Given the description of an element on the screen output the (x, y) to click on. 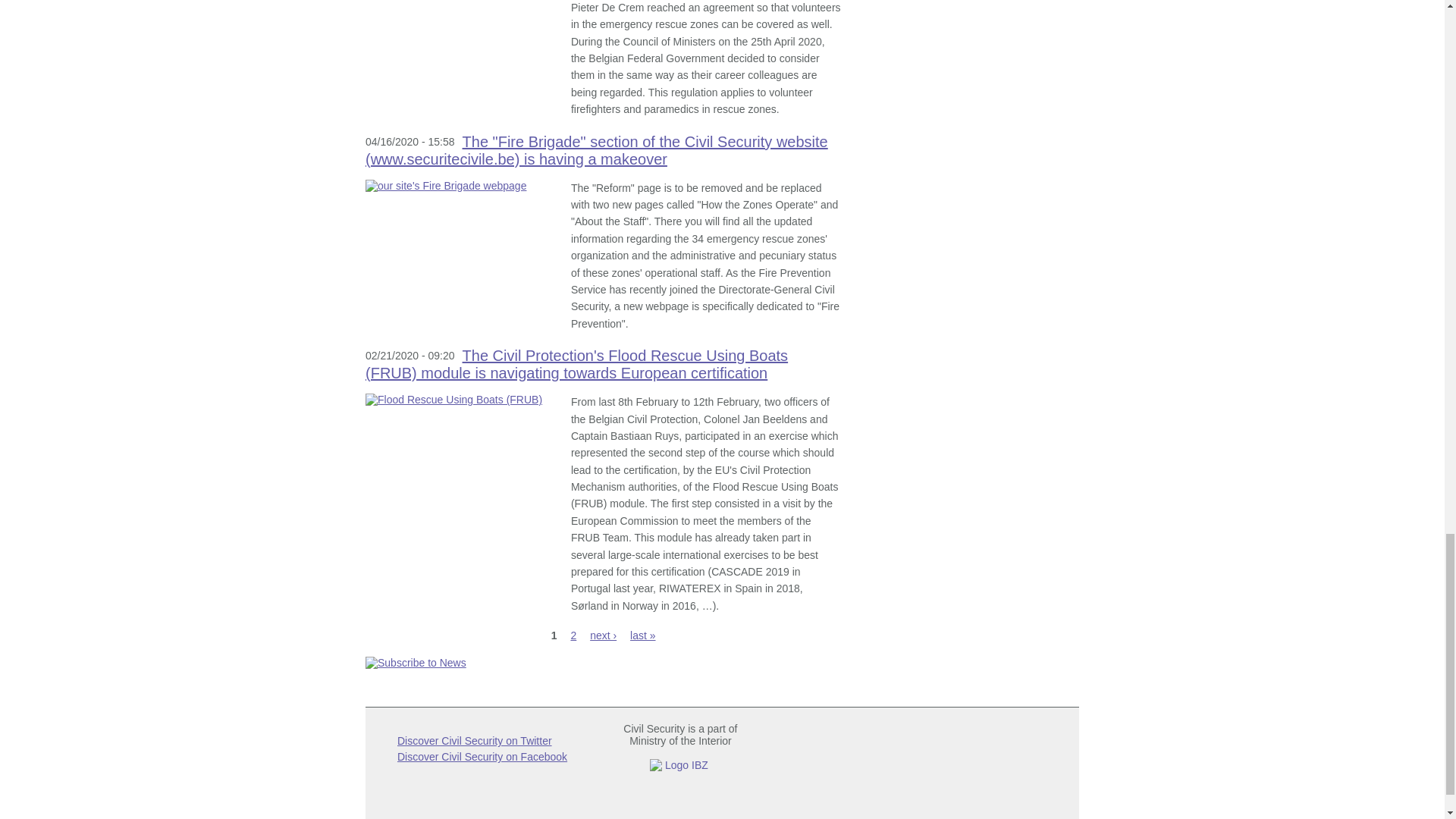
Subscribe to News (603, 662)
Go to last page (642, 635)
Go to page 2 (573, 635)
Exercice FRUB (460, 399)
Go to next page (602, 635)
